Given the description of an element on the screen output the (x, y) to click on. 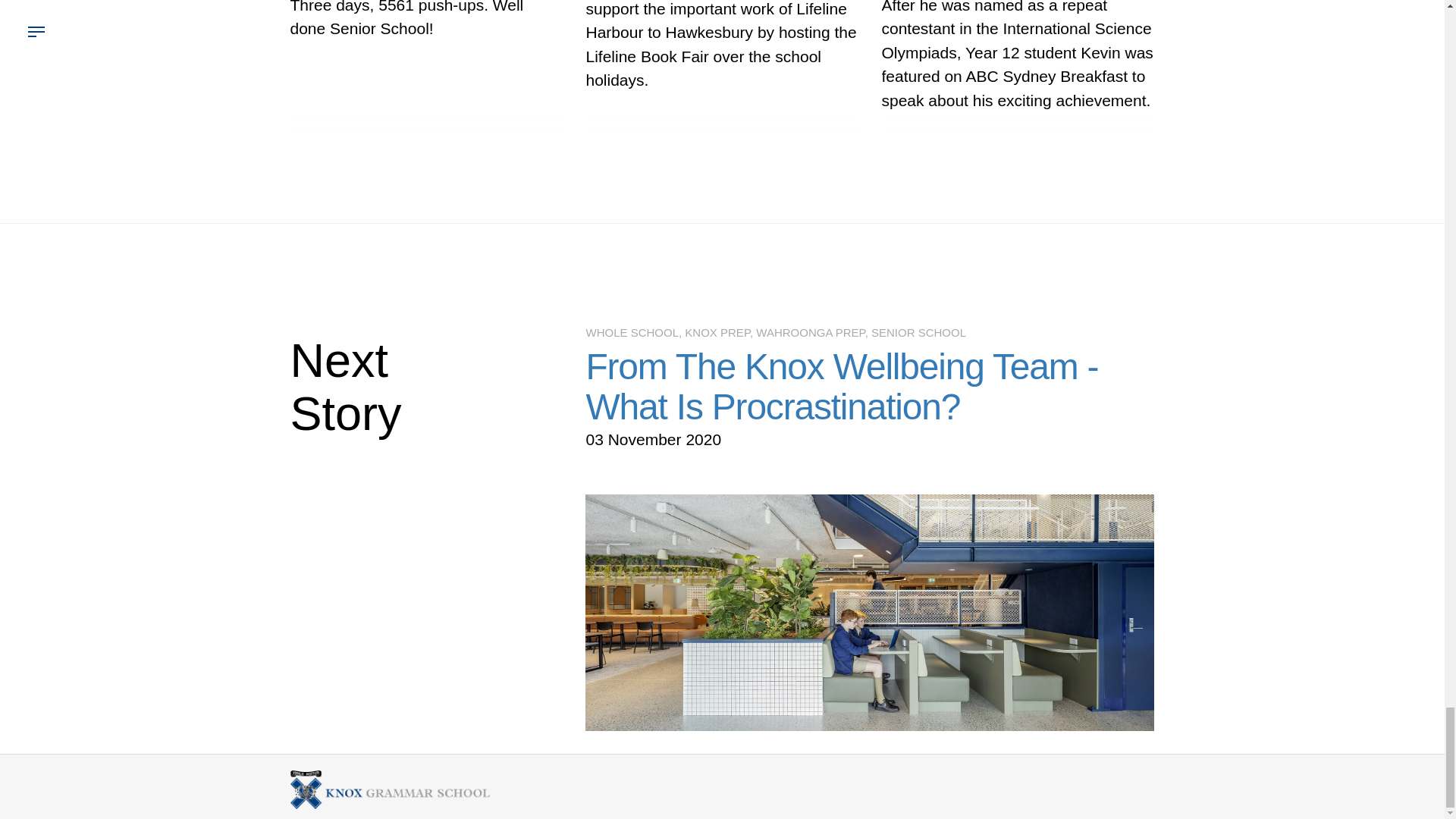
From The Knox Wellbeing Team - What Is Procrastination? (841, 386)
WHOLE SCHOOL (631, 332)
KNOX PREP (716, 332)
SENIOR SCHOOL (918, 332)
WAHROONGA PREP (809, 332)
